Given the description of an element on the screen output the (x, y) to click on. 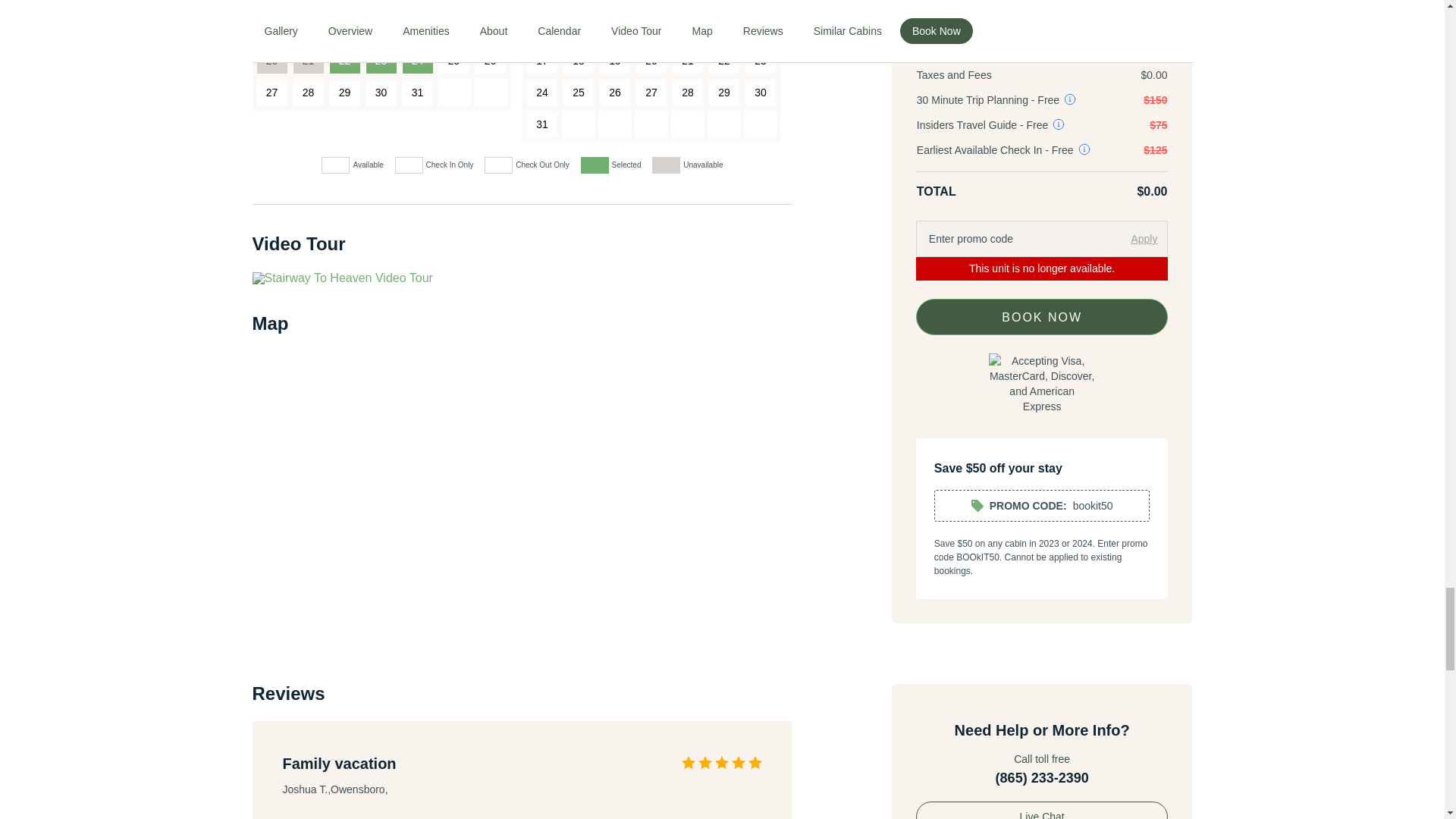
Unavailable (271, 6)
Send (1042, 1)
Unavailable (307, 6)
Unavailable (344, 6)
